Given the description of an element on the screen output the (x, y) to click on. 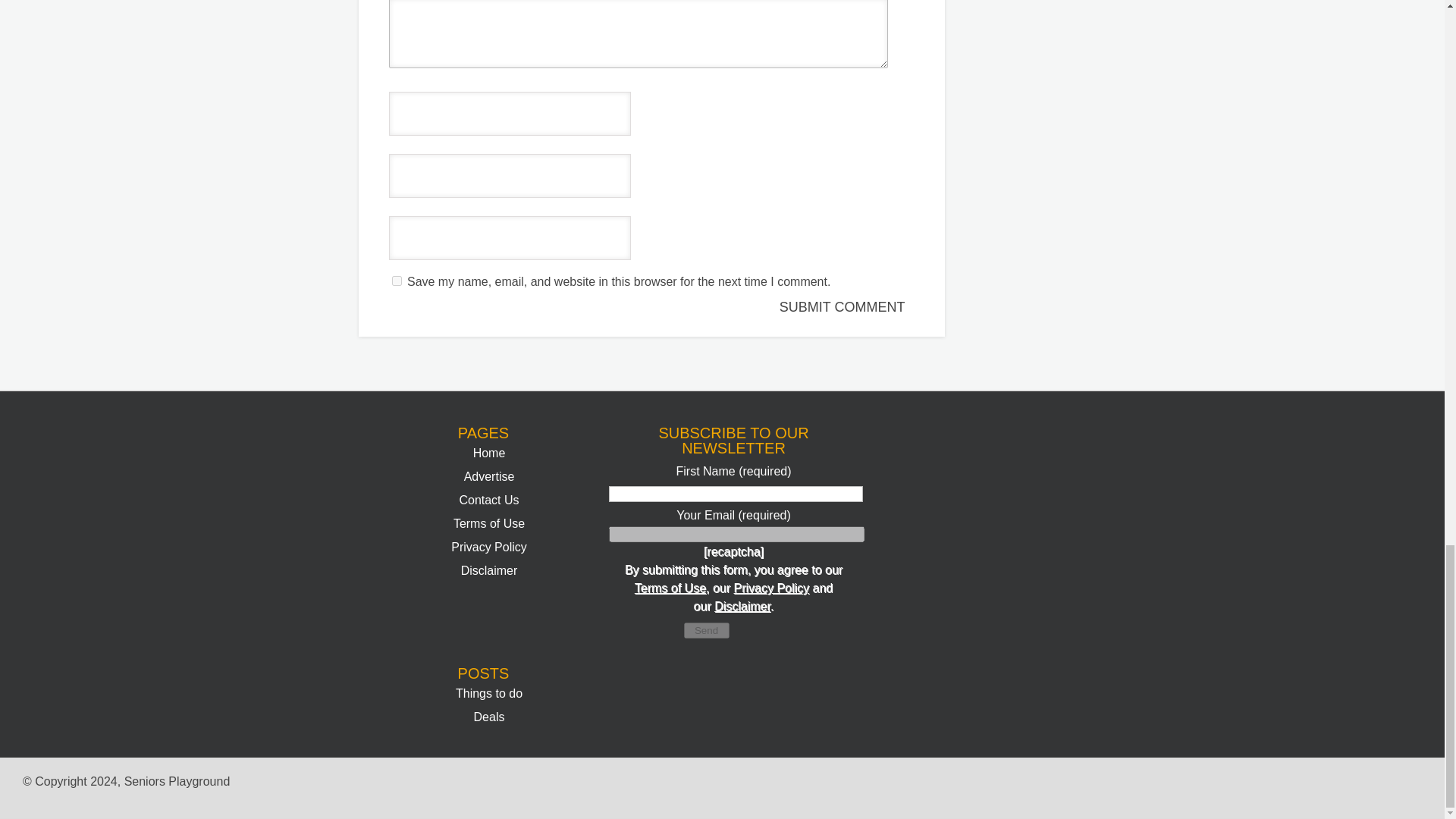
yes (396, 280)
Submit Comment (844, 307)
Disclaimer (742, 605)
Terms of Use (488, 522)
Disclaimer (489, 570)
Send (706, 630)
Things to do (488, 693)
Terms of Use (670, 587)
Privacy Policy (489, 546)
Home (489, 452)
Privacy Policy (771, 587)
Submit Comment (844, 307)
Contact Us (488, 499)
Deals (489, 716)
Advertise (489, 476)
